Given the description of an element on the screen output the (x, y) to click on. 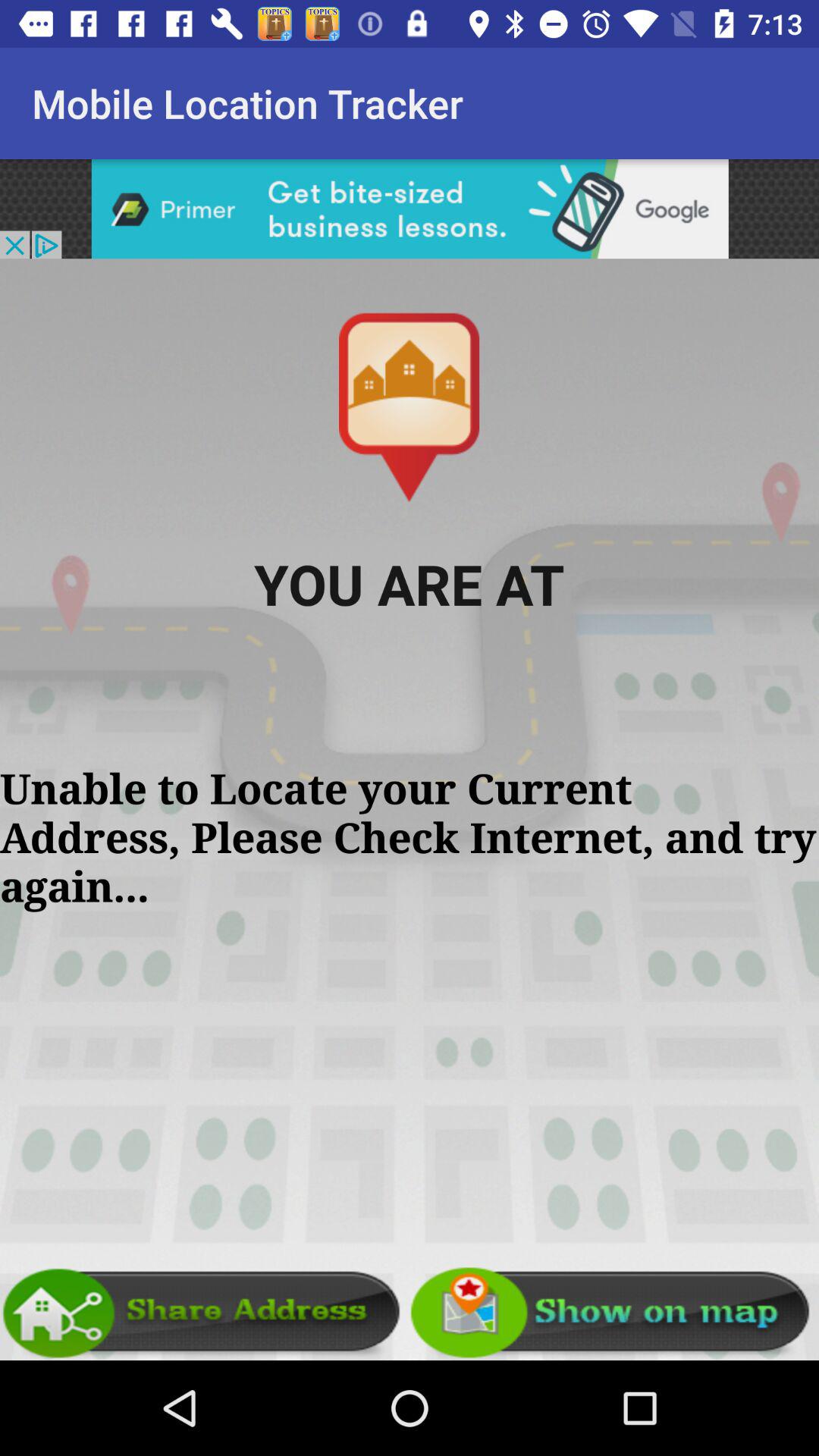
search botton (409, 208)
